Given the description of an element on the screen output the (x, y) to click on. 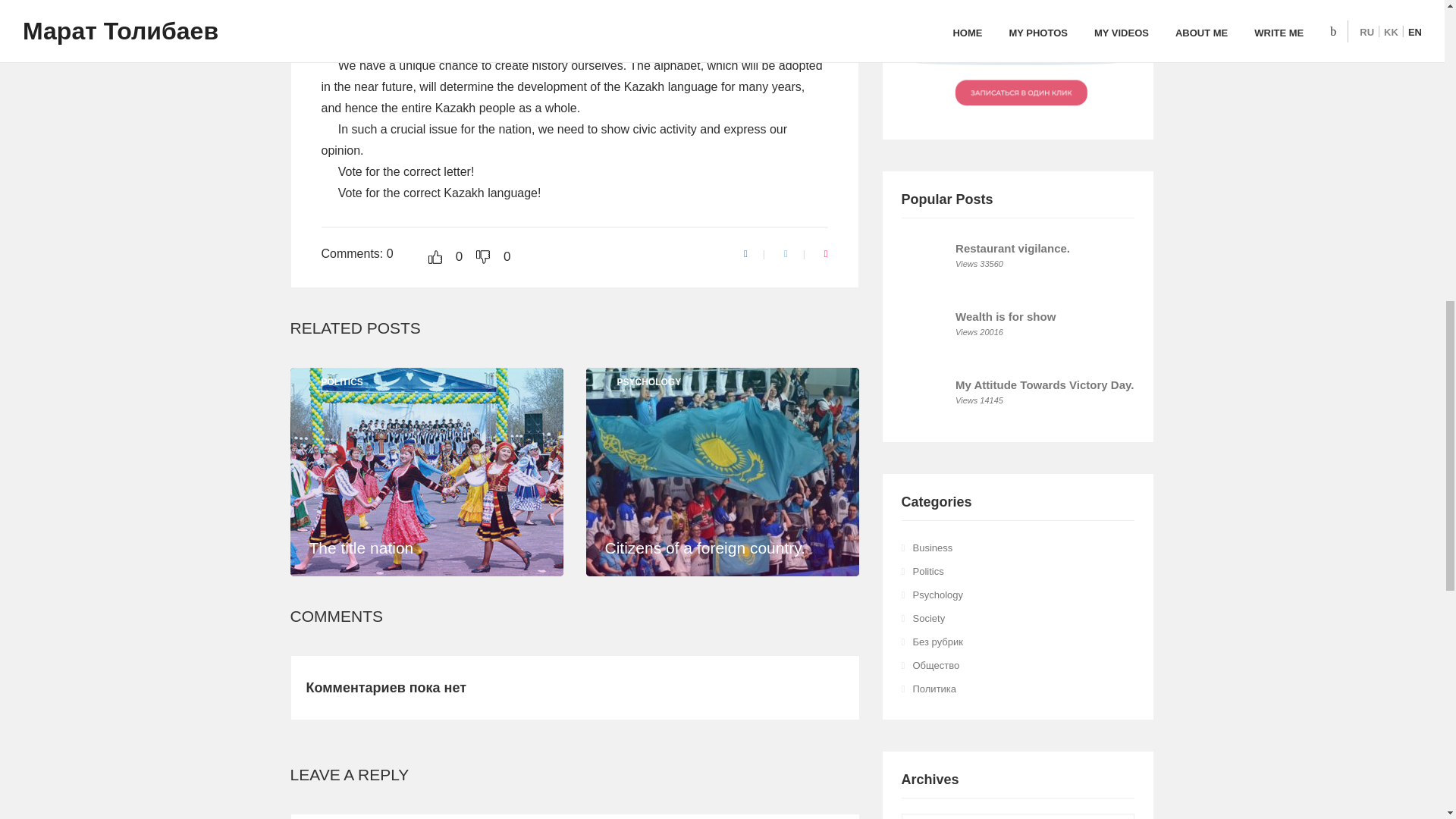
Psychology (937, 594)
Restaurant vigilance. (1012, 247)
Business (932, 547)
POLITICS (341, 381)
Politics (927, 571)
PSYCHOLOGY (649, 381)
Citizens of a foreign country. (705, 547)
Wealth is for show (1005, 316)
The title nation (360, 547)
My Attitude Towards Victory Day. (1044, 384)
